Given the description of an element on the screen output the (x, y) to click on. 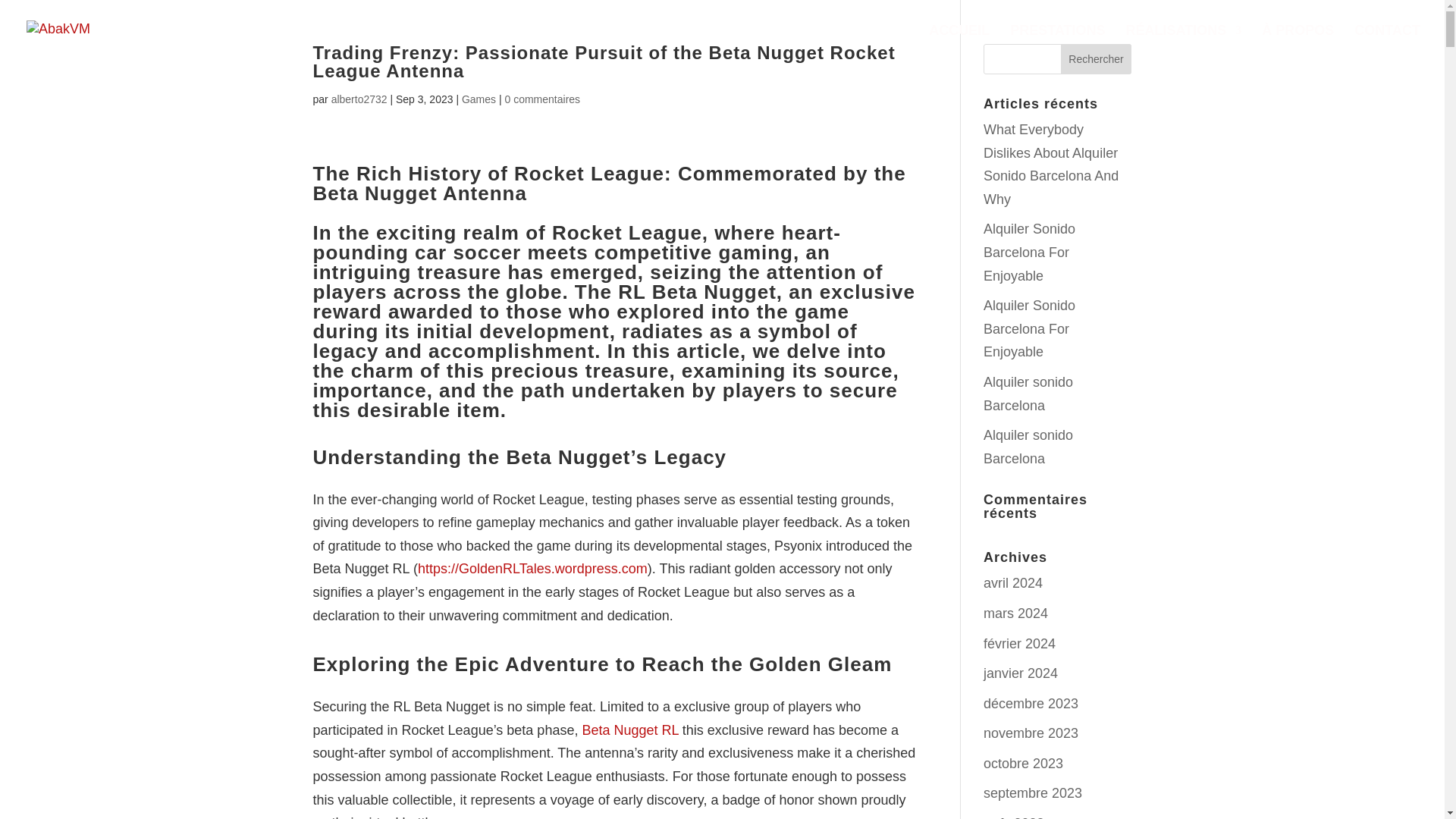
alberto2732 (359, 99)
Articles de alberto2732 (359, 99)
0 commentaires (541, 99)
janvier 2024 (1021, 672)
Alquiler sonido Barcelona (1028, 446)
Beta Nugget RL (629, 729)
octobre 2023 (1023, 763)
PRESTATIONS (1057, 42)
Alquiler sonido Barcelona (1028, 393)
